Given the description of an element on the screen output the (x, y) to click on. 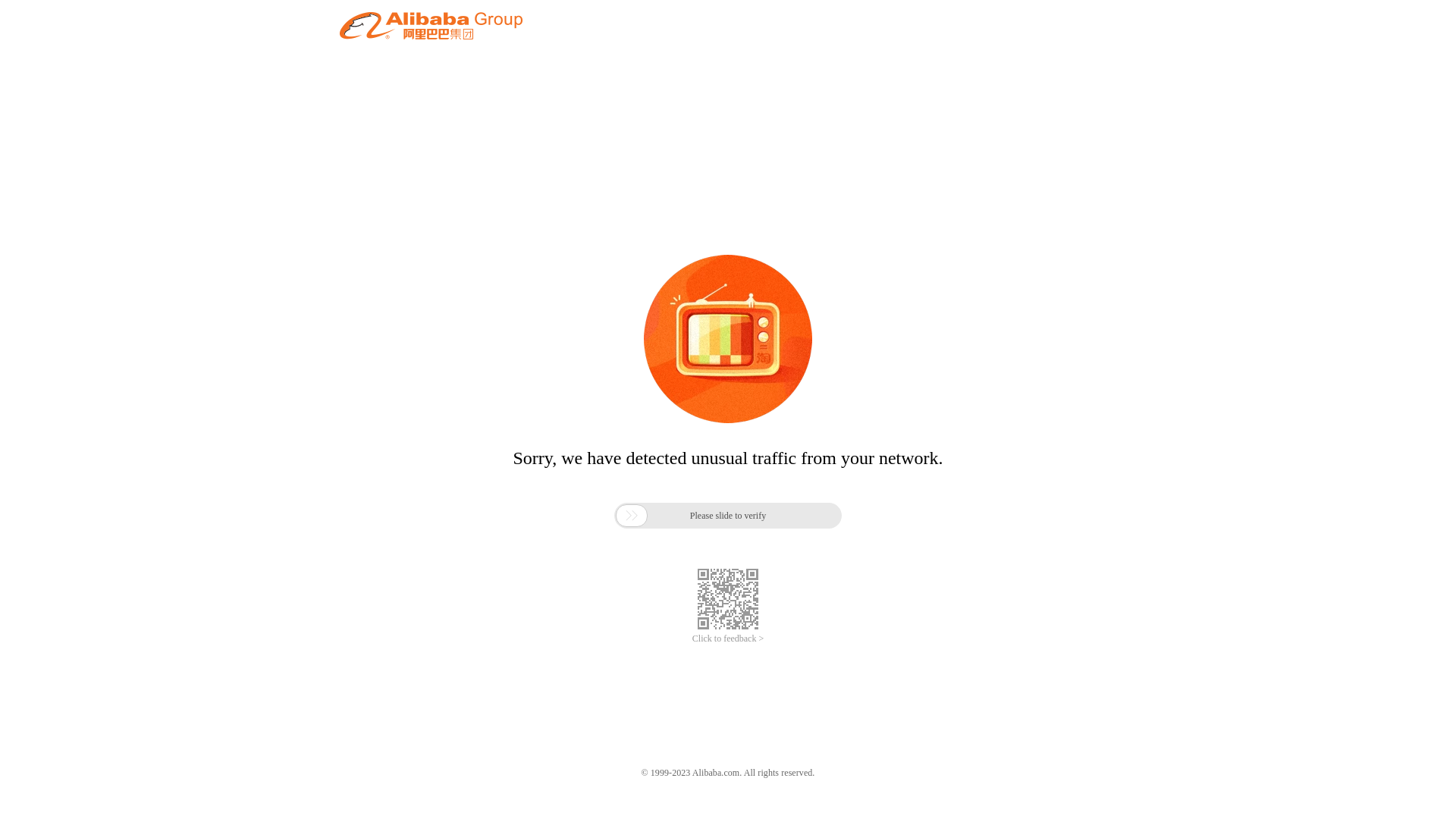
Click to feedback > Element type: text (727, 638)
